Given the description of an element on the screen output the (x, y) to click on. 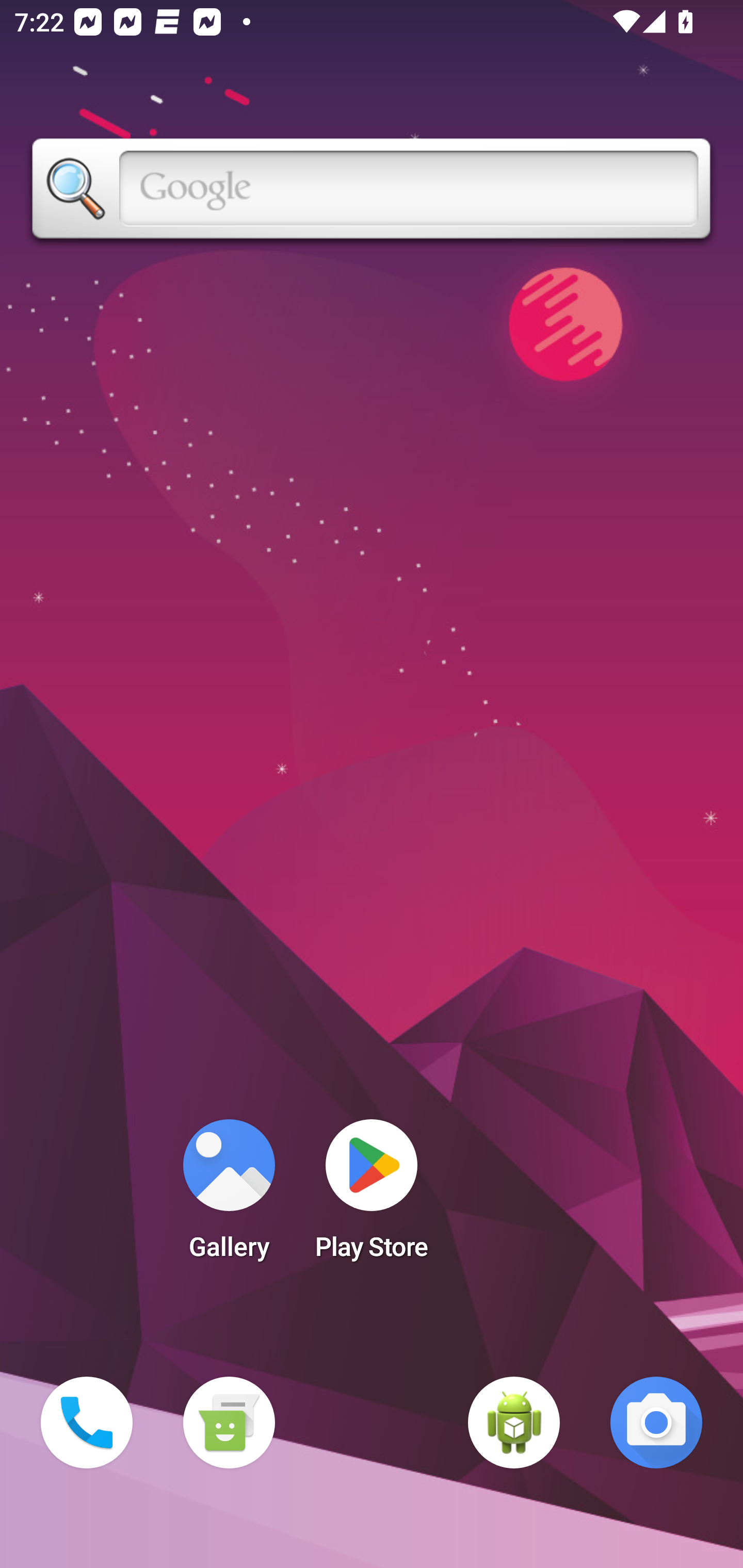
Gallery (228, 1195)
Play Store (371, 1195)
Phone (86, 1422)
Messaging (228, 1422)
WebView Browser Tester (513, 1422)
Camera (656, 1422)
